Given the description of an element on the screen output the (x, y) to click on. 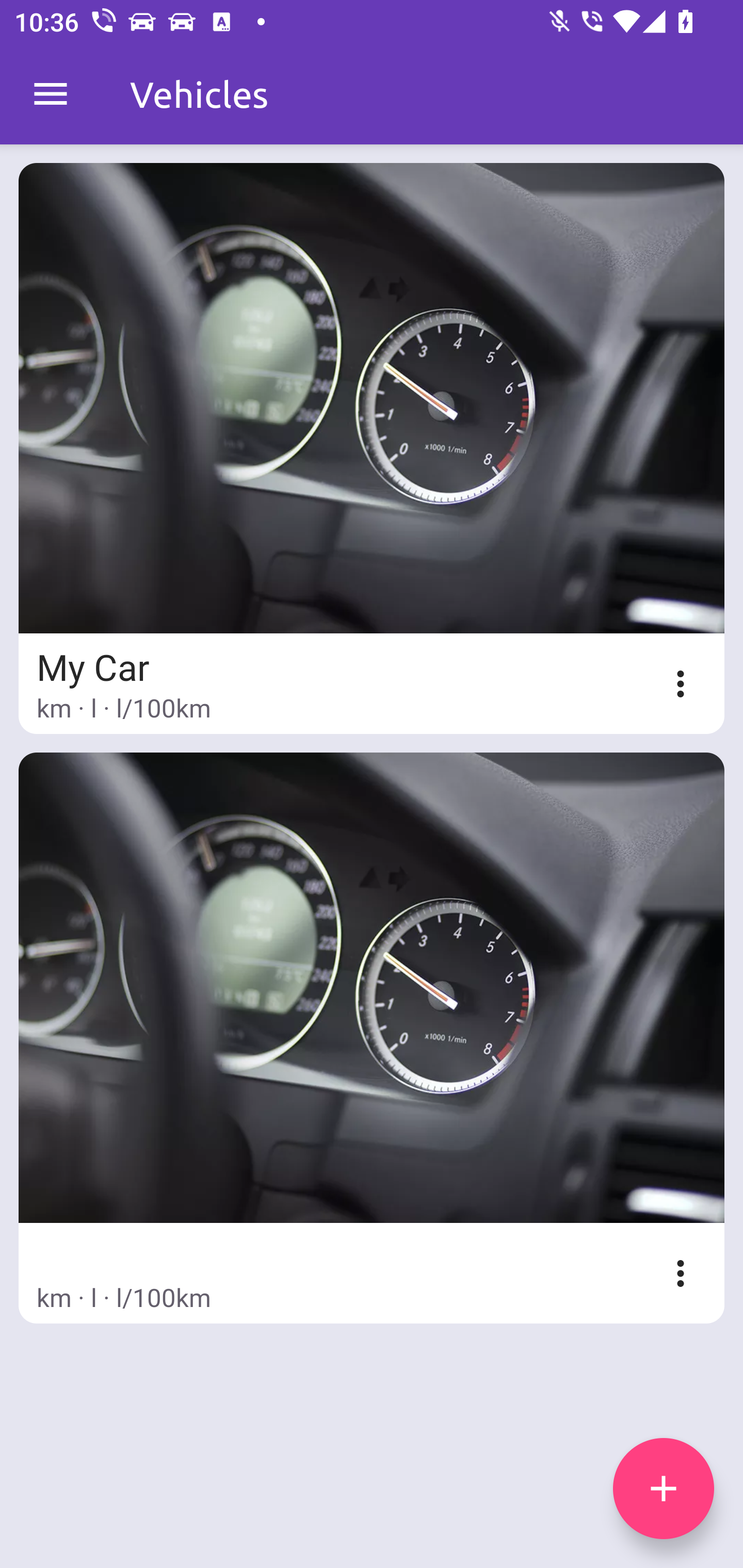
MenuDrawer (50, 93)
My Car km · l · l/100km (371, 448)
km · l · l/100km (371, 1037)
add icon (663, 1488)
